Given the description of an element on the screen output the (x, y) to click on. 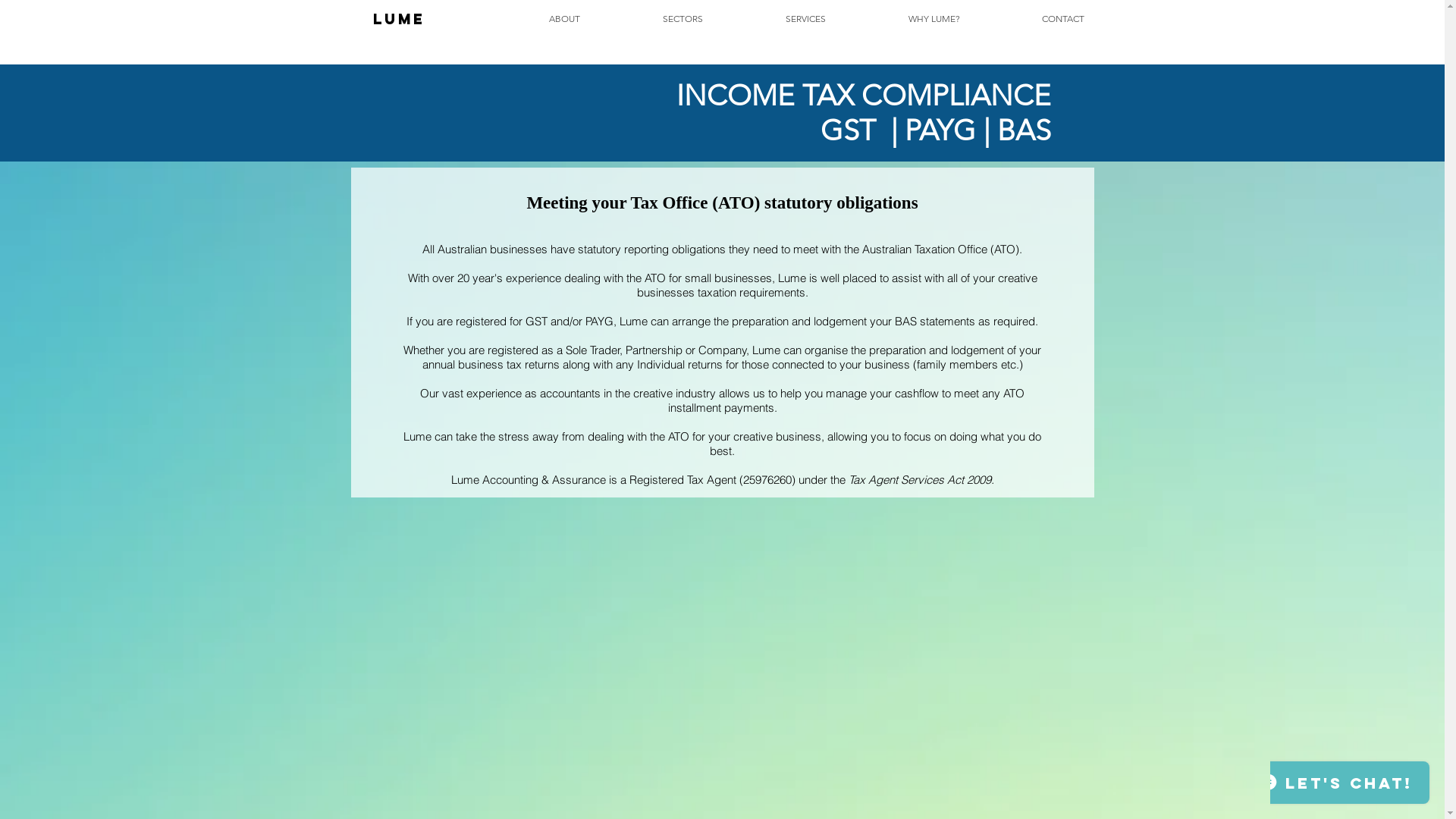
ABOUT Element type: text (533, 18)
CONTACT Element type: text (1032, 18)
WHY LUME? Element type: text (904, 18)
lume Element type: text (399, 18)
